Given the description of an element on the screen output the (x, y) to click on. 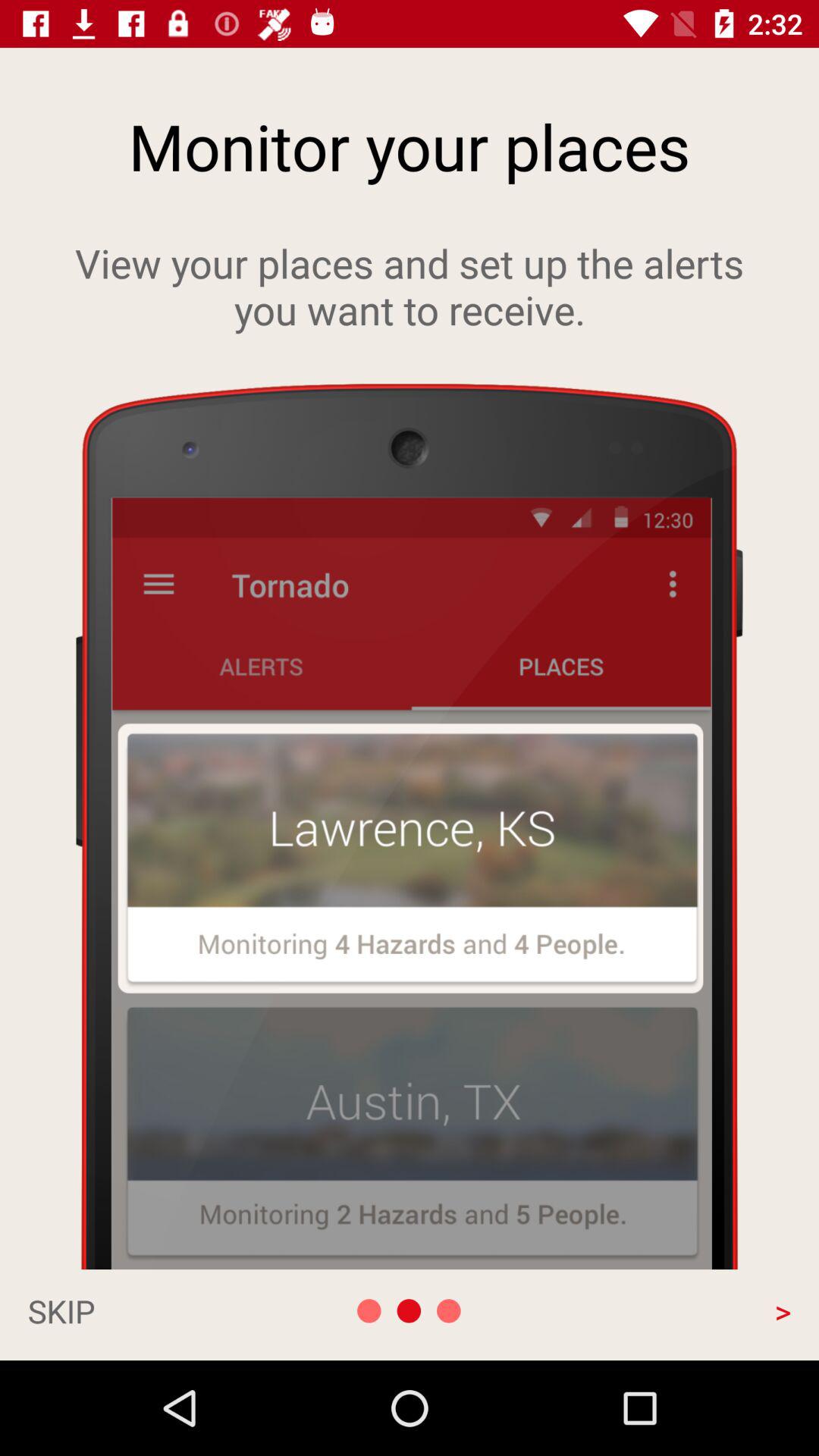
swipe to > icon (677, 1310)
